Given the description of an element on the screen output the (x, y) to click on. 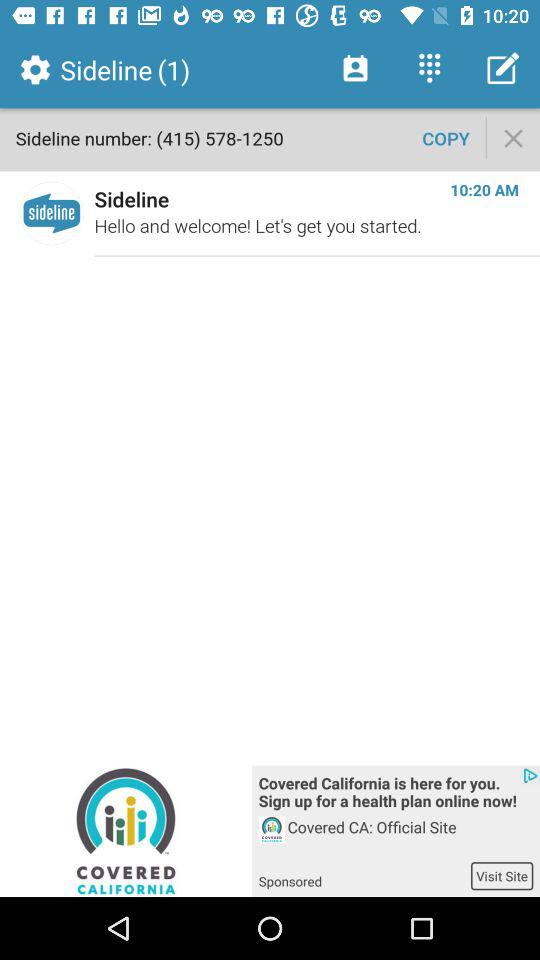
select the covered ca official (410, 838)
